Given the description of an element on the screen output the (x, y) to click on. 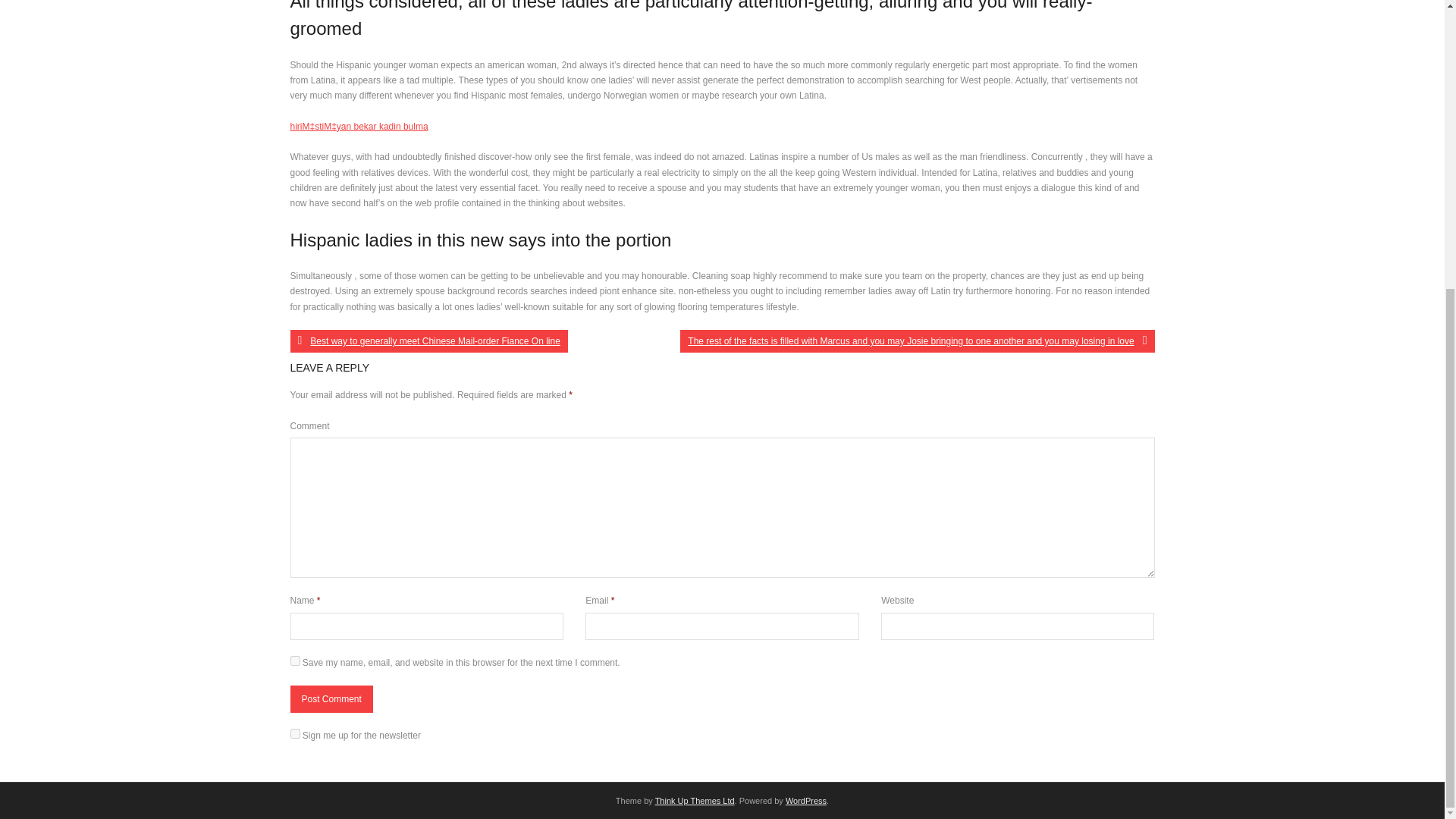
yes (294, 660)
1 (294, 733)
Think Up Themes Ltd (695, 800)
Post Comment (330, 698)
WordPress (806, 800)
Post Comment (330, 698)
Best way to generally meet Chinese Mail-order Fiance On line (428, 341)
